Given the description of an element on the screen output the (x, y) to click on. 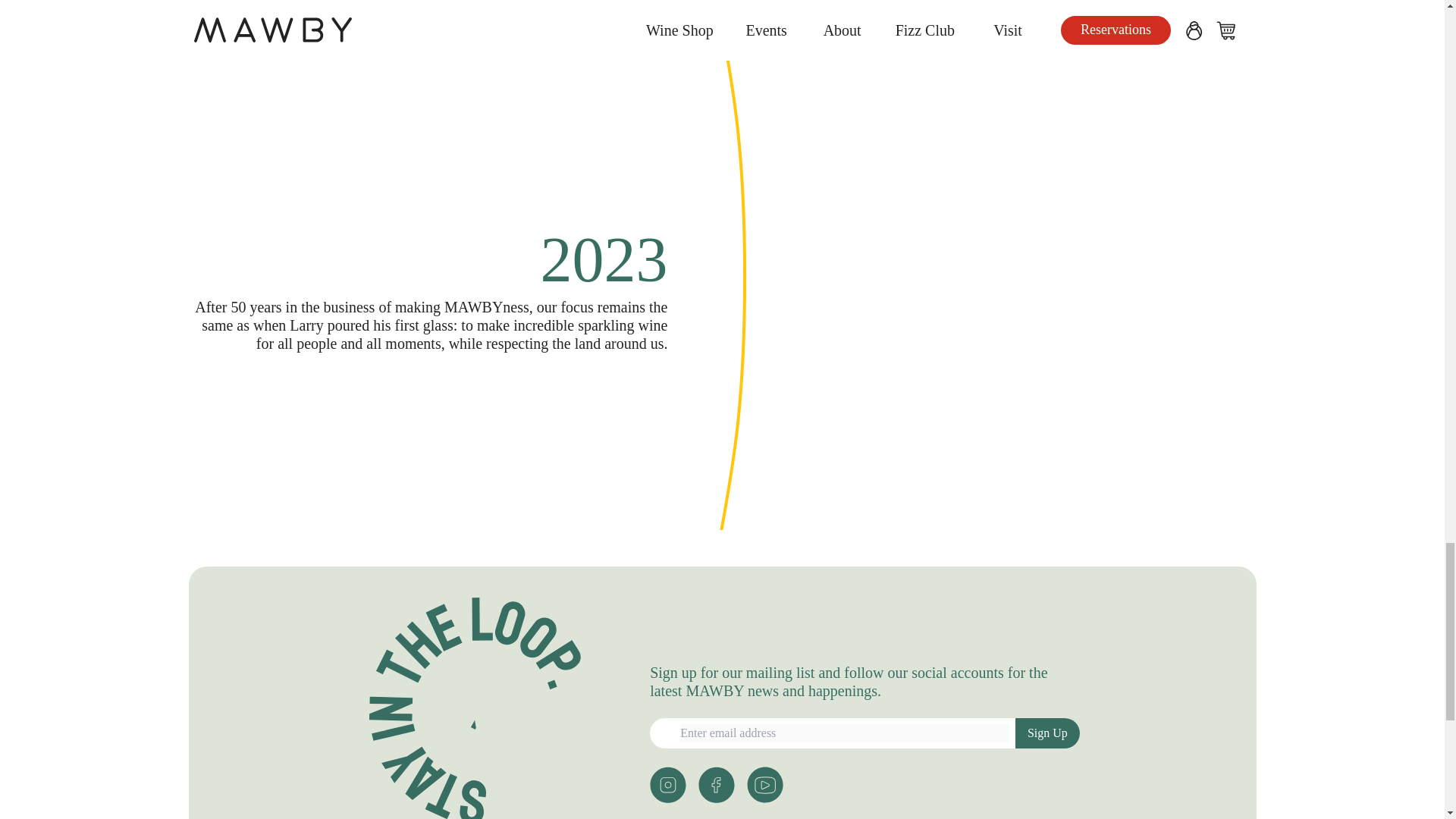
Sign Up (1047, 733)
Login to your account (667, 784)
Login to your account (716, 784)
Sign Up (1047, 733)
Login to your account (764, 784)
